Given the description of an element on the screen output the (x, y) to click on. 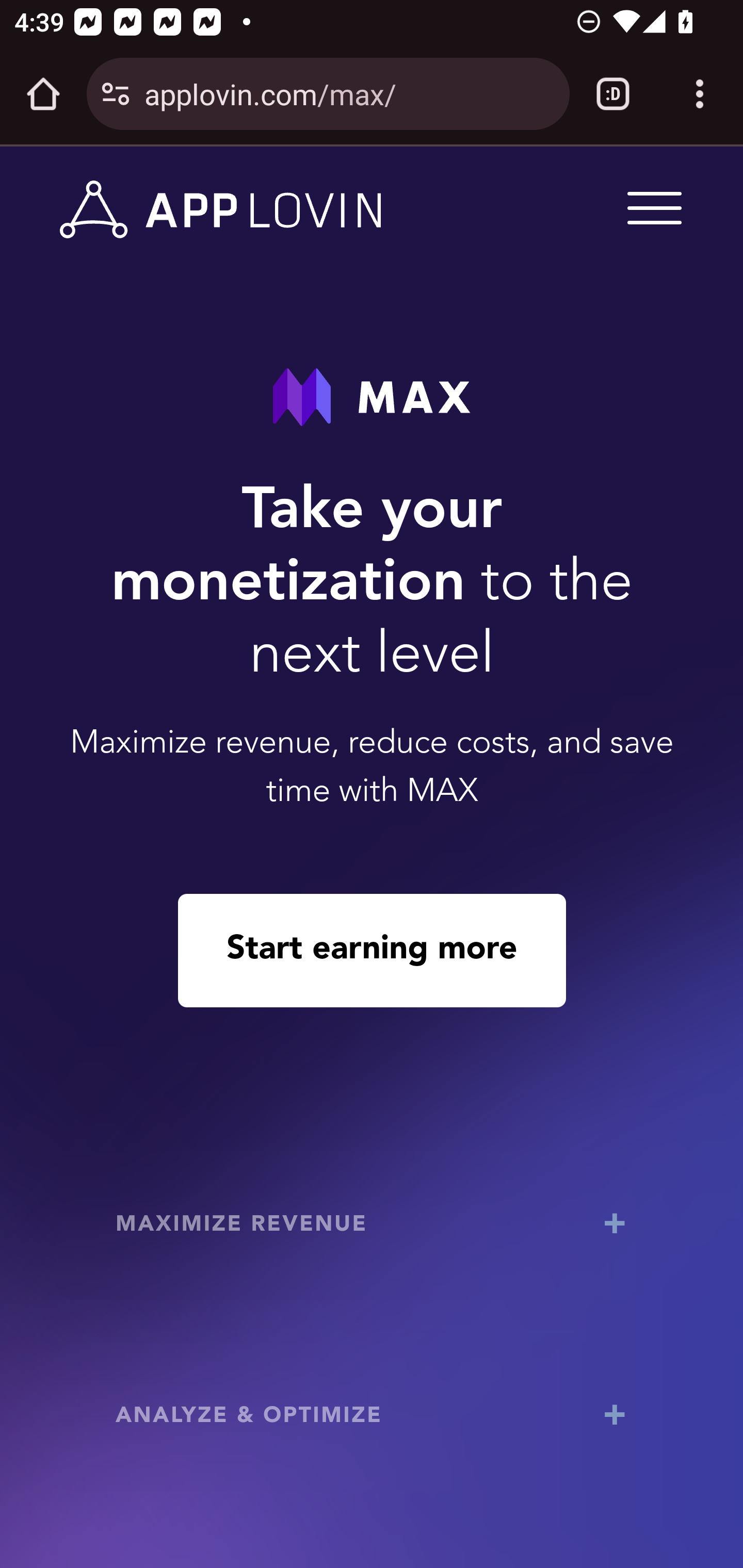
Open the home page (43, 93)
Connection is secure (115, 93)
Switch or close tabs (612, 93)
Customize and control Google Chrome (699, 93)
applovin.com/max/ (349, 92)
Menu Trigger (650, 207)
www.applovin (220, 209)
Start earning more (371, 950)
